Given the description of an element on the screen output the (x, y) to click on. 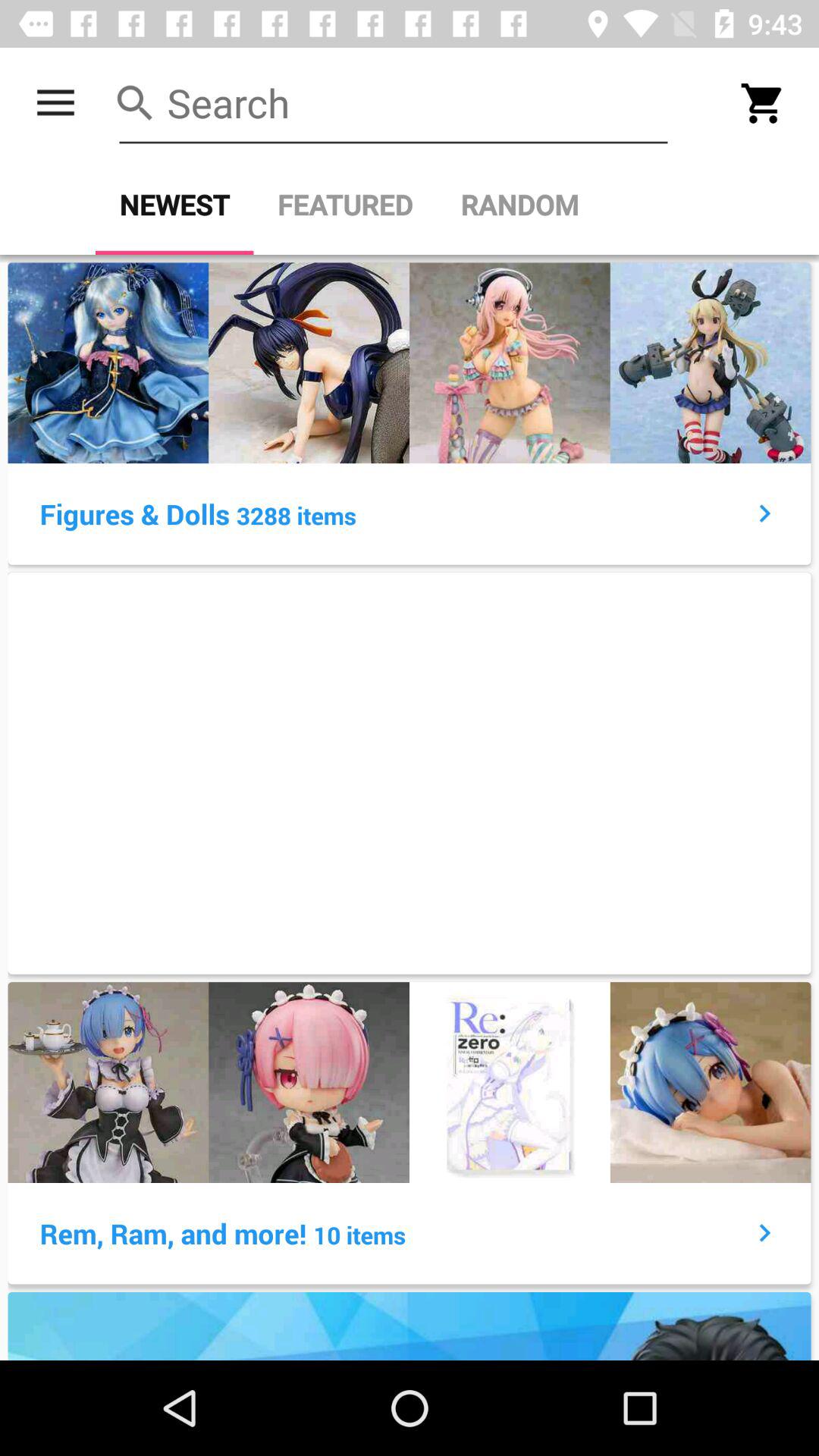
select the item to the right of newest (344, 204)
